Given the description of an element on the screen output the (x, y) to click on. 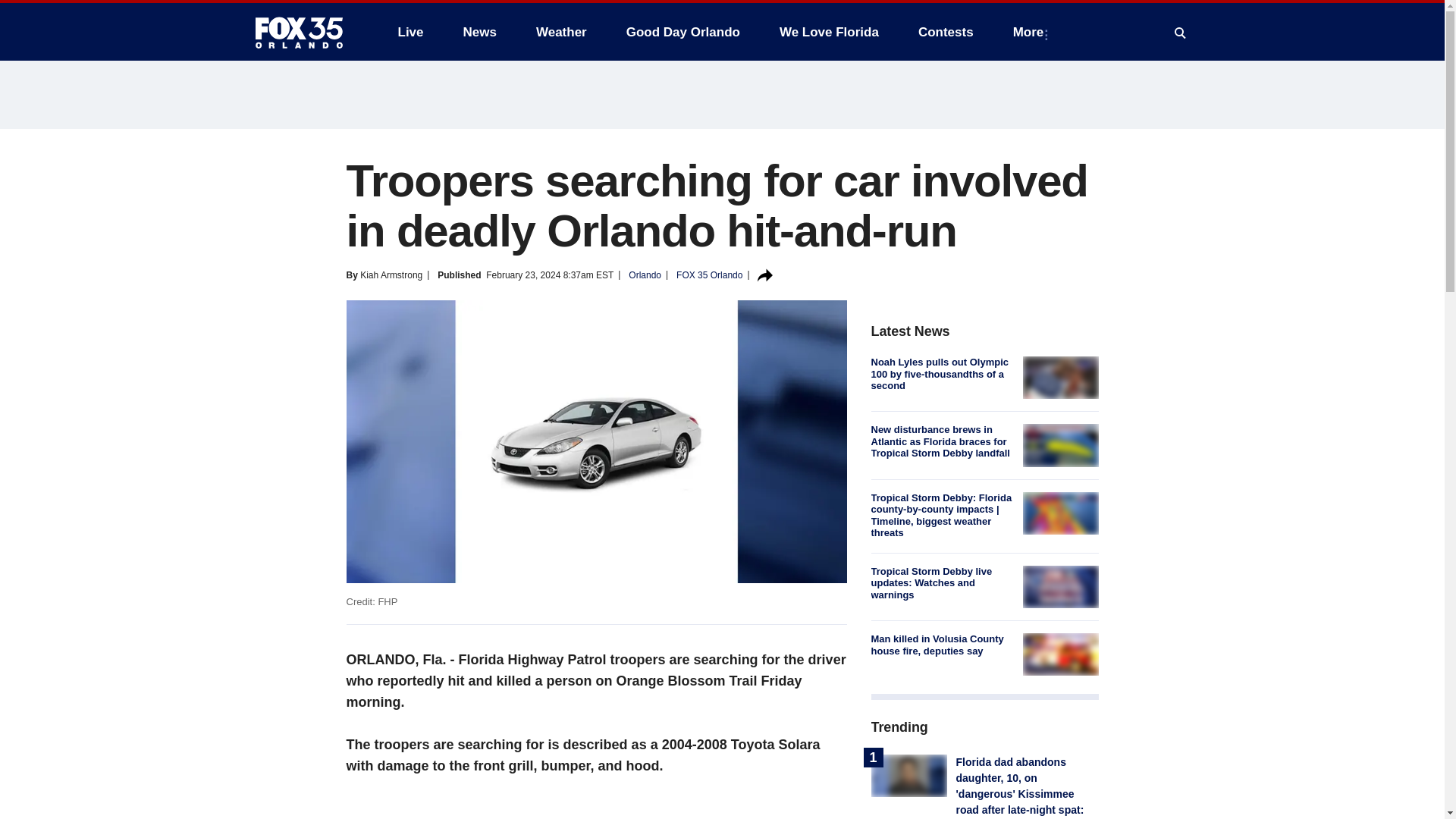
More (1031, 32)
We Love Florida (829, 32)
Live (410, 32)
News (479, 32)
Contests (945, 32)
Good Day Orlando (683, 32)
Weather (561, 32)
